Given the description of an element on the screen output the (x, y) to click on. 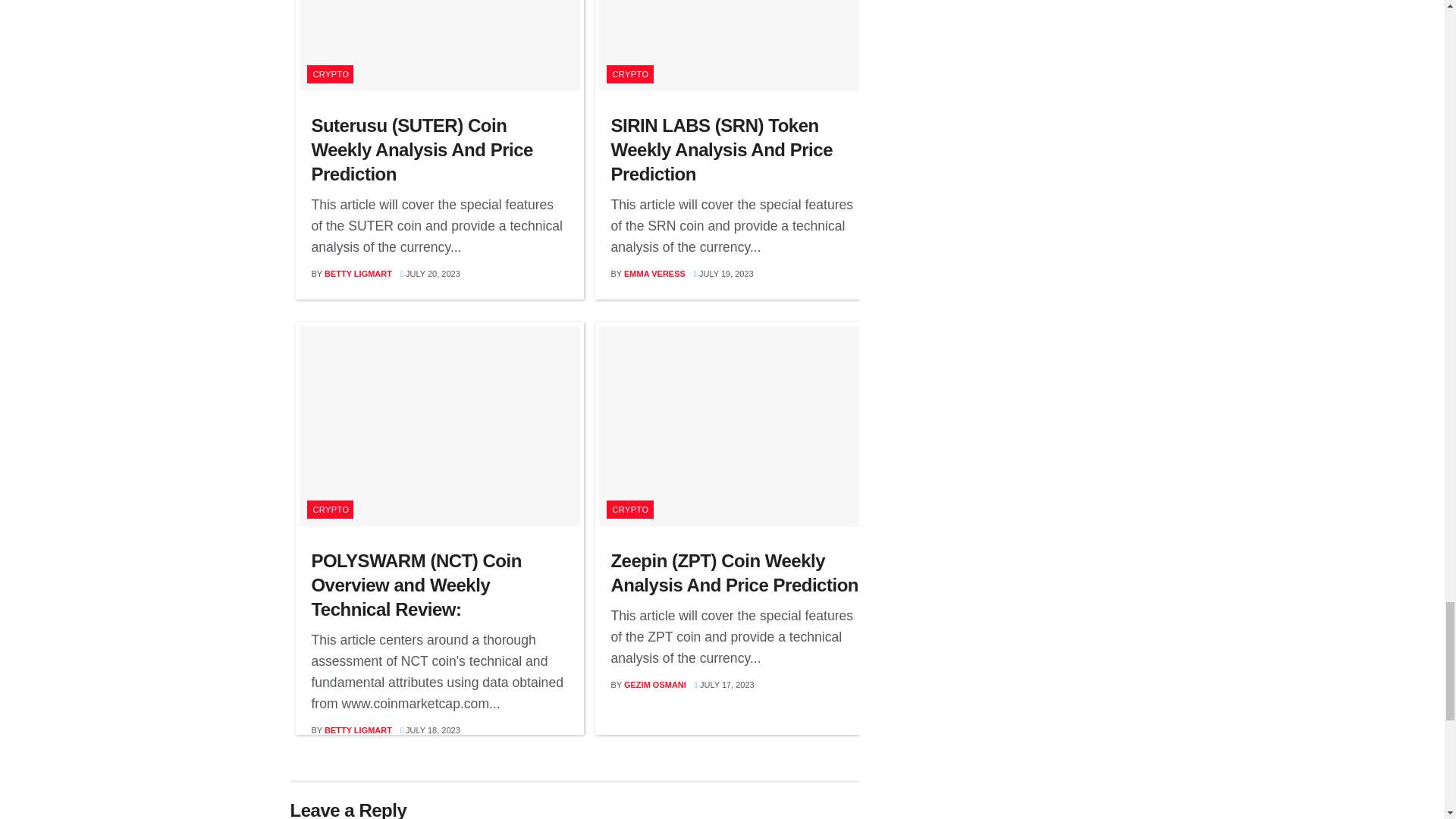
BETTY LIGMART (357, 273)
CRYPTO (629, 74)
JULY 20, 2023 (430, 273)
JULY 19, 2023 (724, 273)
EMMA VERESS (654, 273)
CRYPTO (330, 74)
